Given the description of an element on the screen output the (x, y) to click on. 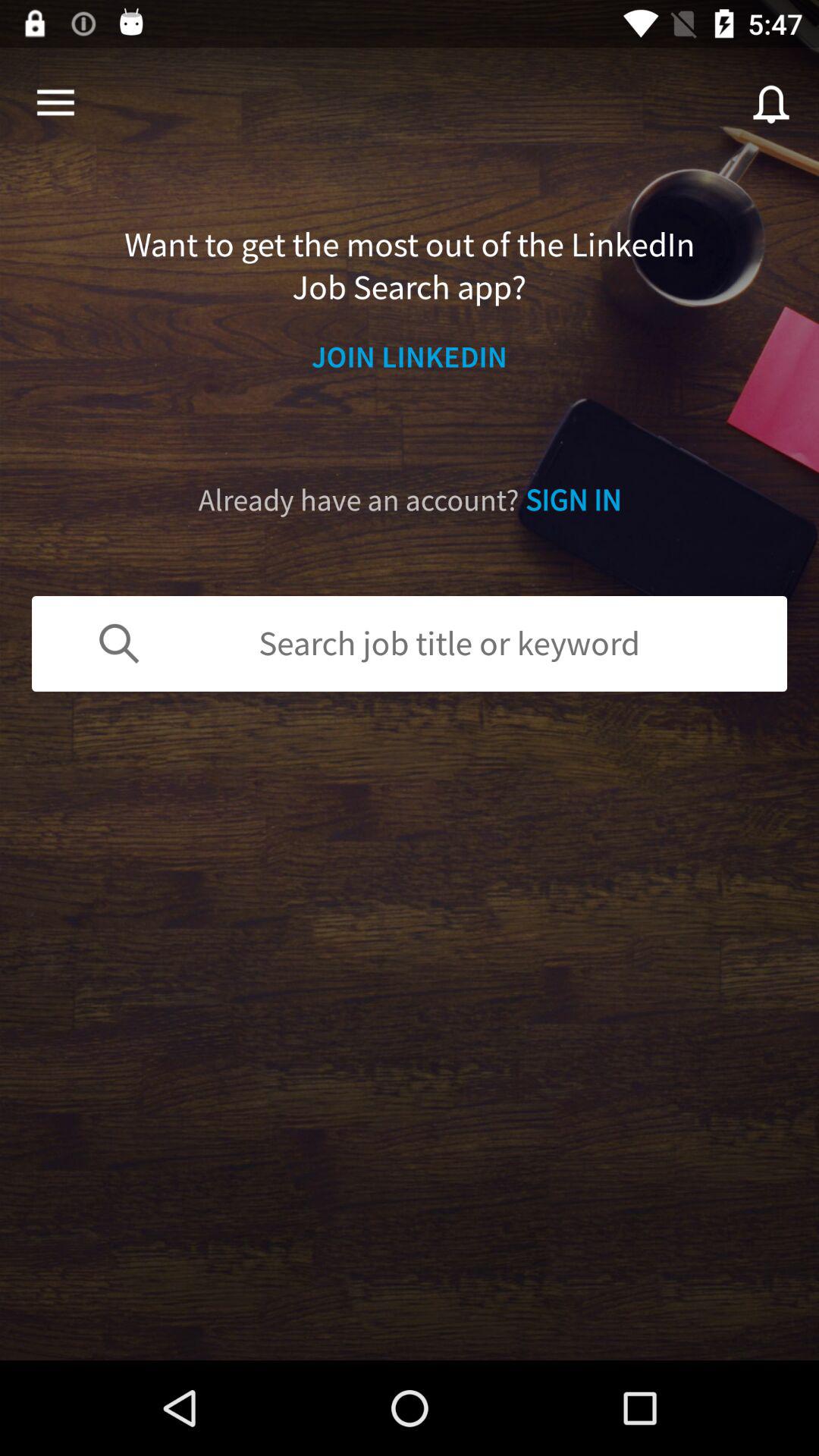
flip to the already have an item (409, 500)
